Given the description of an element on the screen output the (x, y) to click on. 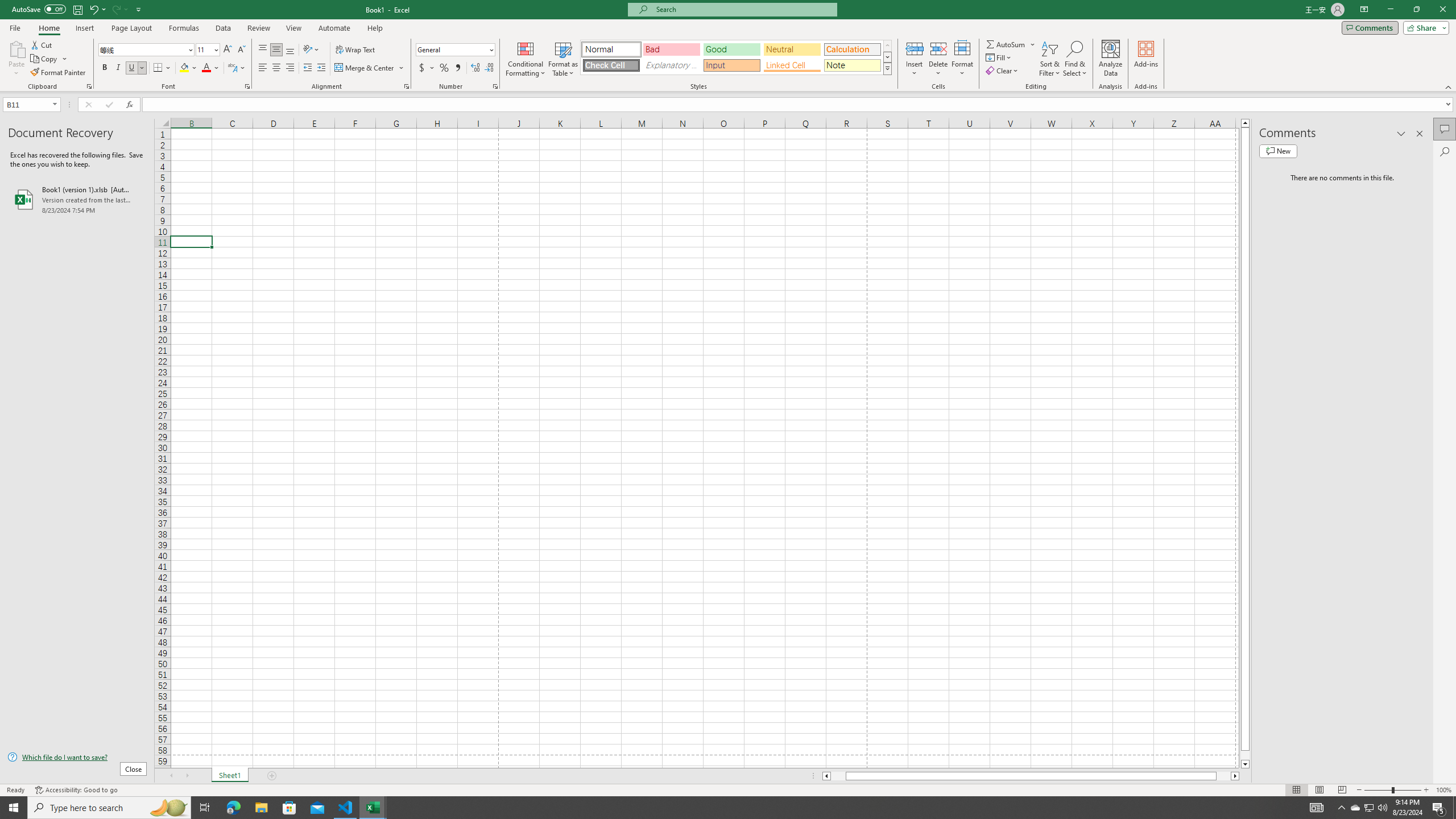
Accounting Number Format (422, 67)
Align Right (290, 67)
Fill (999, 56)
Decrease Indent (307, 67)
Explanatory Text (671, 65)
Insert Cells (914, 48)
Check Cell (611, 65)
Format (962, 58)
Office Clipboard... (88, 85)
Align Left (262, 67)
